Given the description of an element on the screen output the (x, y) to click on. 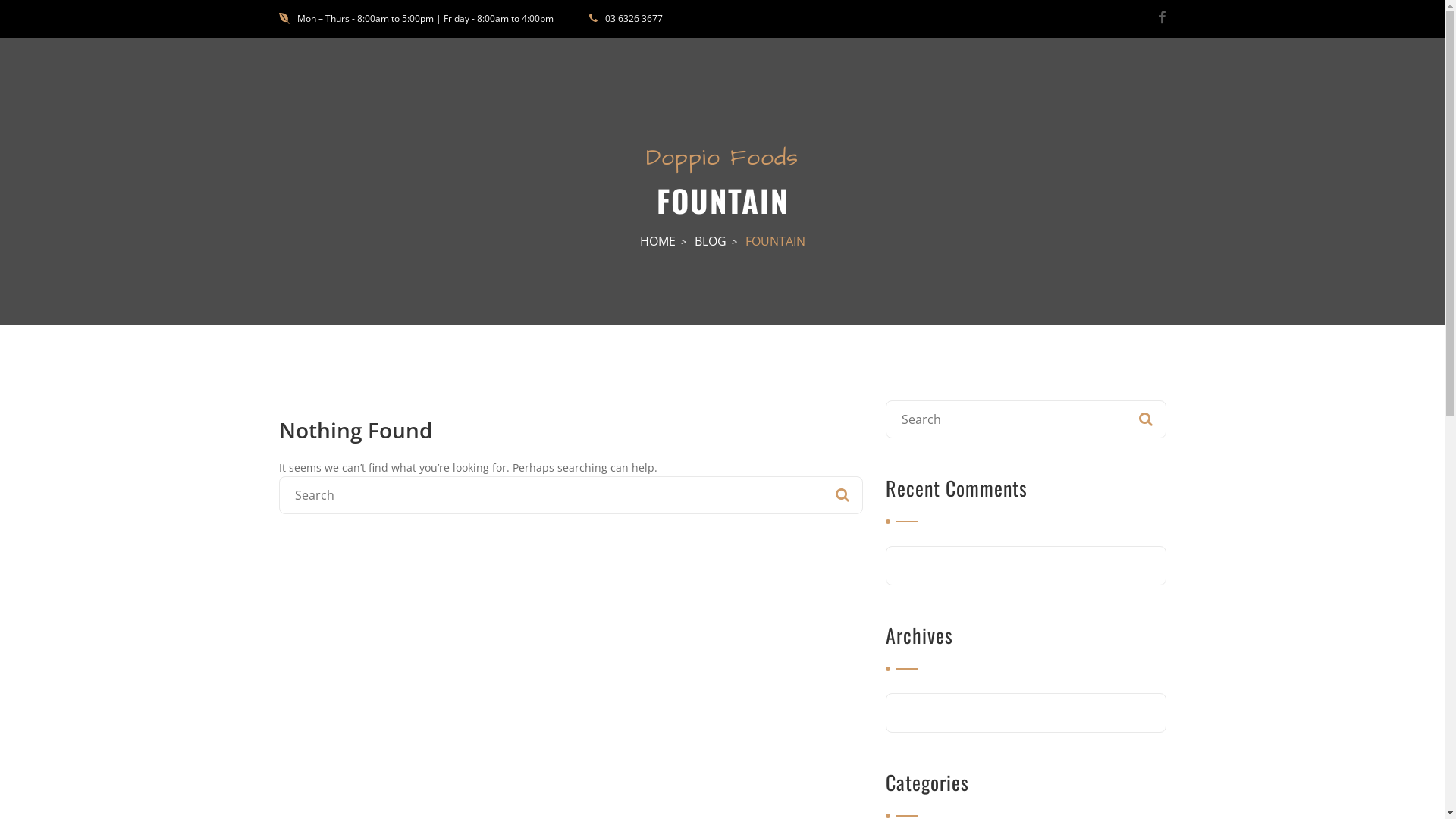
BLOG Element type: text (710, 240)
HOME Element type: text (657, 240)
